Given the description of an element on the screen output the (x, y) to click on. 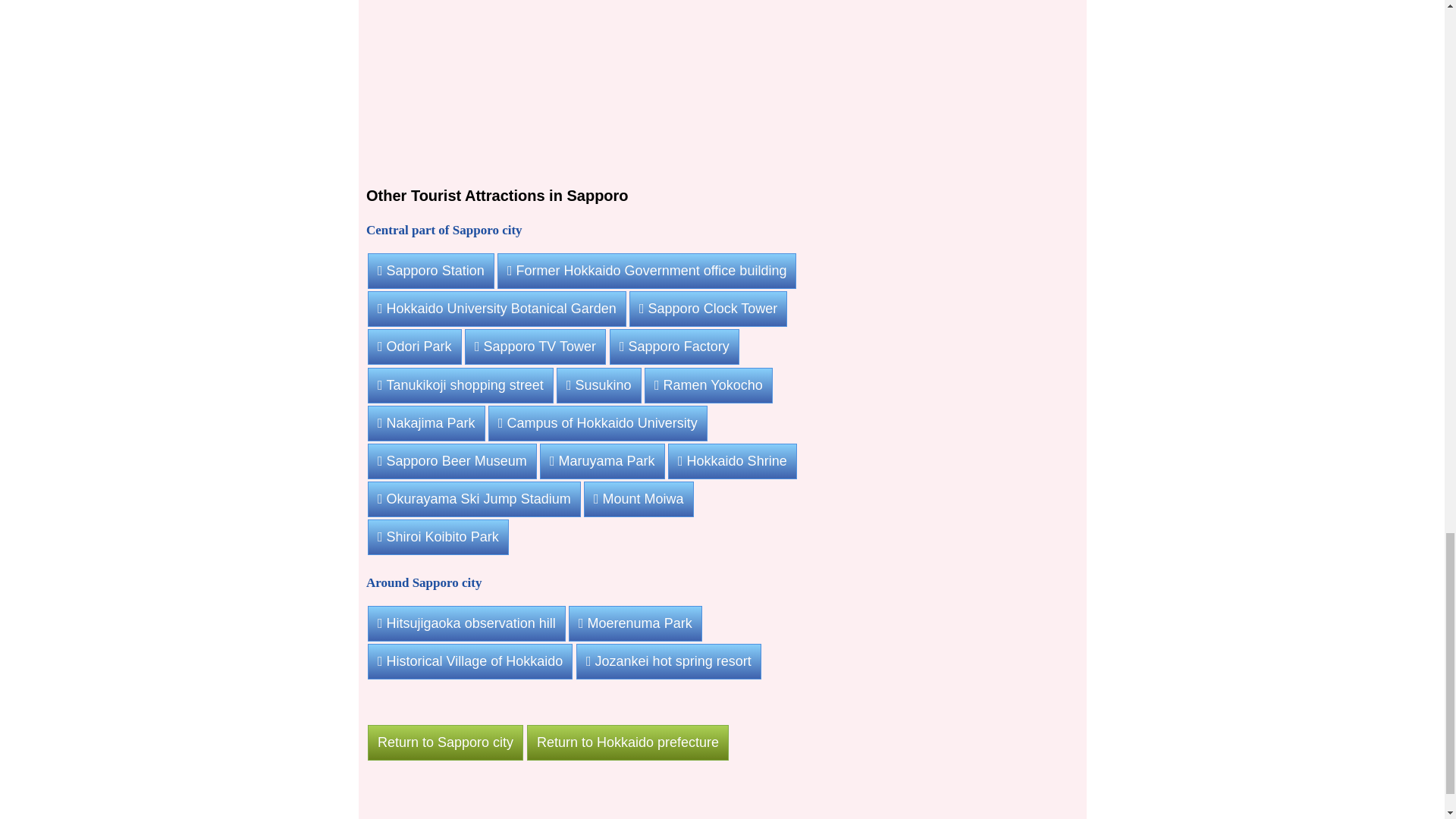
Sapporo Clock Tower (707, 308)
Odori Park (414, 346)
Sapporo TV Tower (534, 346)
Hokkaido University Botanical Garden (497, 308)
Former Hokkaido Government office building (646, 271)
Sapporo Station (431, 271)
